Given the description of an element on the screen output the (x, y) to click on. 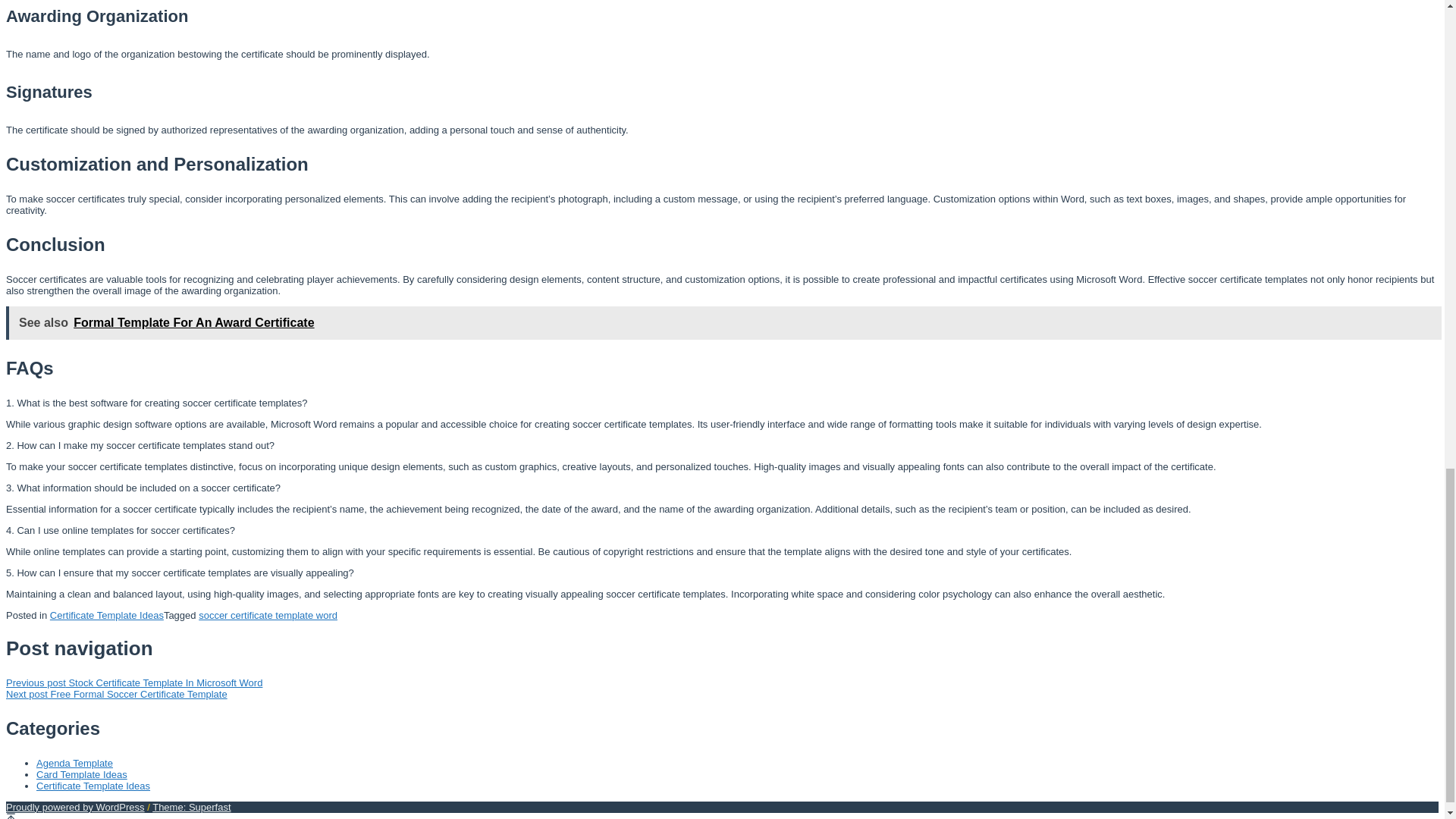
Previous post Stock Certificate Template In Microsoft Word (133, 682)
Theme: Superfast (191, 807)
Agenda Template (74, 763)
Card Template Ideas (82, 774)
Certificate Template Ideas (92, 785)
Proudly powered by WordPress (74, 807)
Certificate Template Ideas (106, 614)
Proudly powered by WordPress (74, 807)
Next post Free Formal Soccer Certificate Template (116, 694)
Theme: Superfast (191, 807)
soccer certificate template word (267, 614)
